Given the description of an element on the screen output the (x, y) to click on. 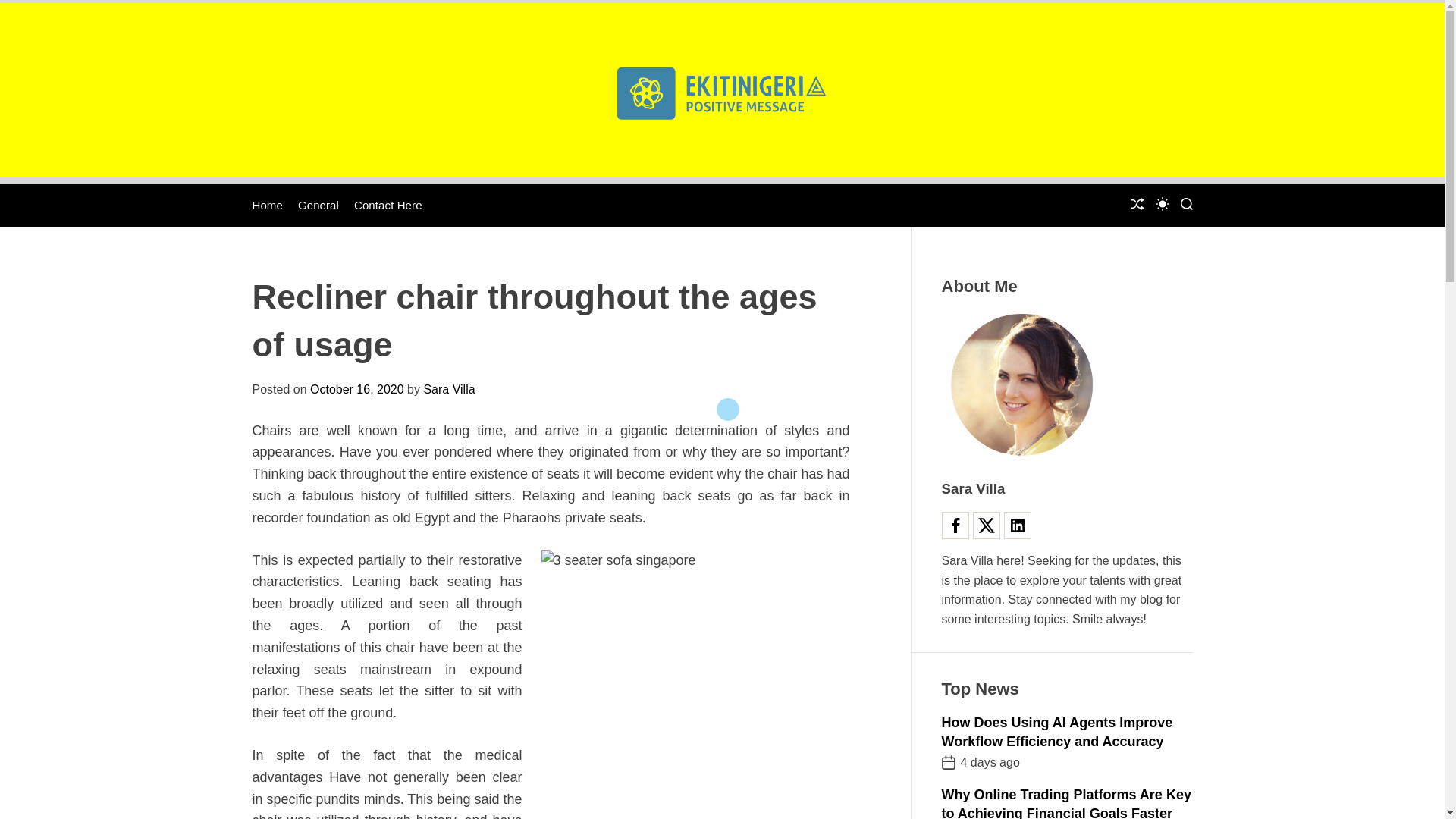
Contact Here (387, 205)
SWITCH COLOR MODE (1162, 203)
Home (266, 205)
General (318, 205)
Sara Villa (448, 389)
October 16, 2020 (357, 389)
